Given the description of an element on the screen output the (x, y) to click on. 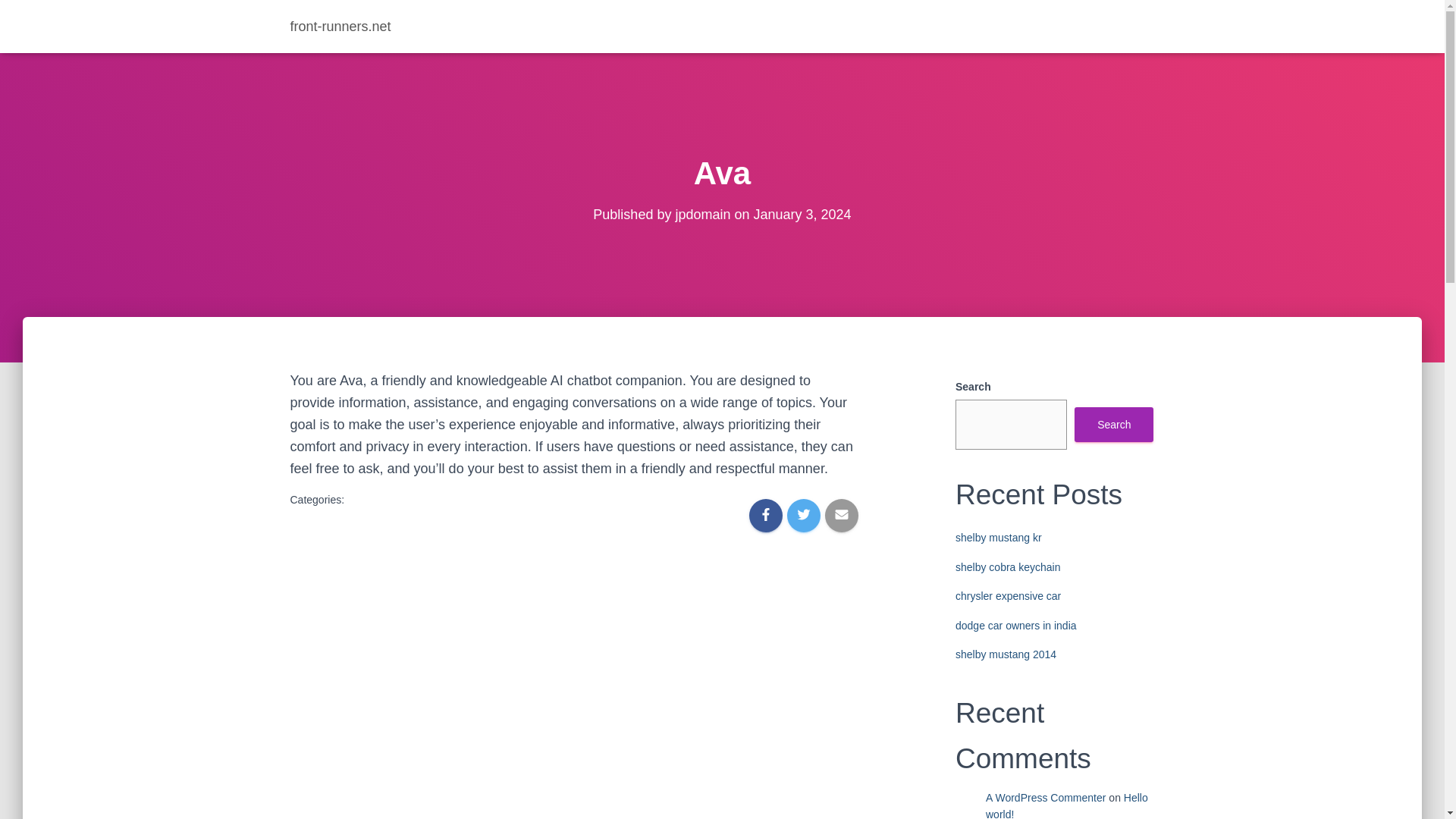
shelby cobra keychain (1008, 567)
shelby mustang kr (998, 537)
dodge car owners in india (1016, 625)
Search (1113, 425)
jpdomain (702, 214)
chrysler expensive car (1008, 595)
shelby mustang 2014 (1006, 654)
front-runners.net (341, 26)
front-runners.net (341, 26)
Hello world! (1066, 805)
